Given the description of an element on the screen output the (x, y) to click on. 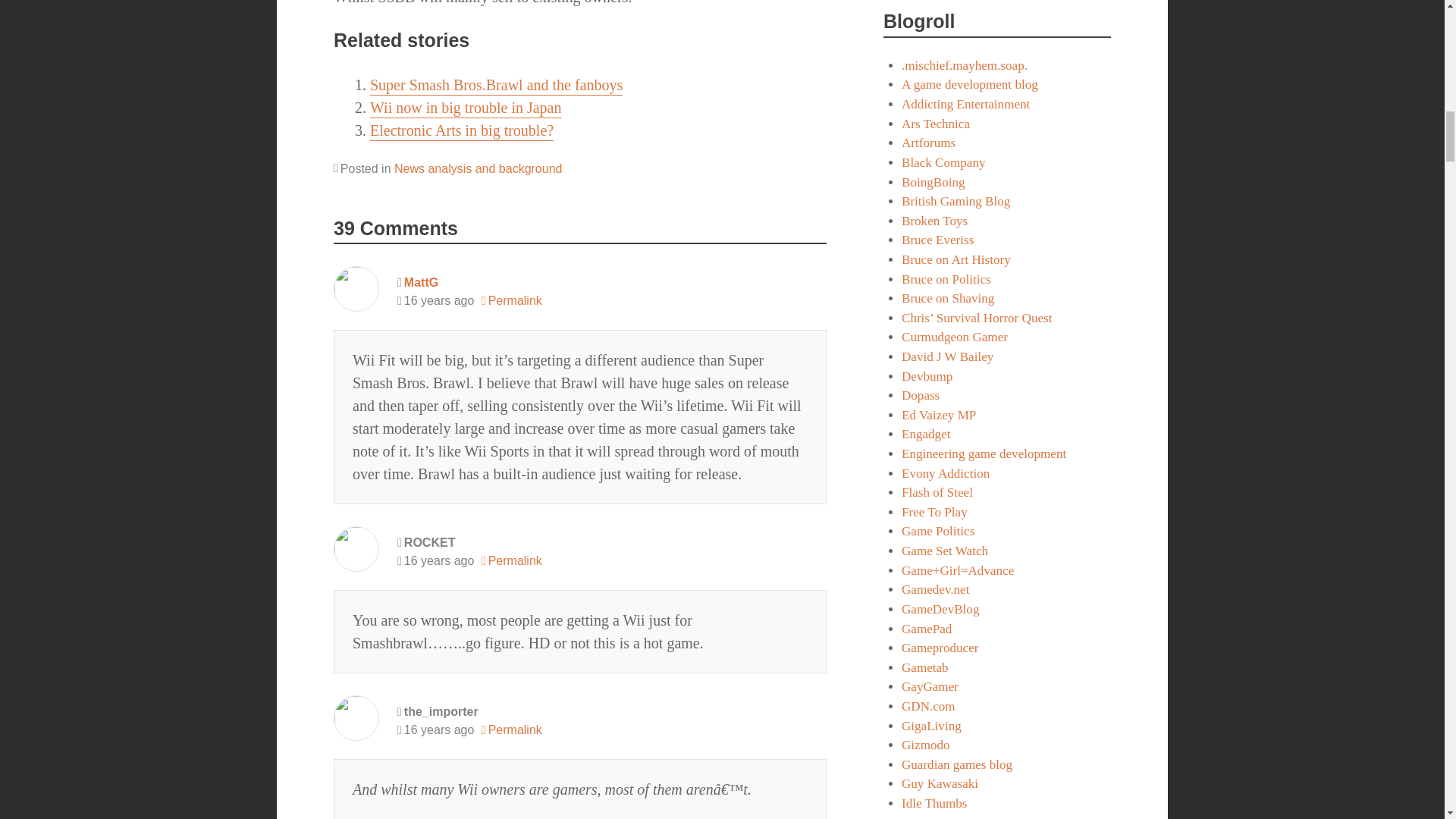
Super Smash Bros.Brawl and the fanboys (496, 85)
Electronic Arts in big trouble? (461, 130)
MattG (421, 282)
Electronic Arts in big trouble? (461, 130)
Super Smash Bros.Brawl and the fanboys (496, 85)
Permalink (511, 561)
Wii now in big trouble in Japan (465, 107)
Saturday, February 16, 2008, 12:27 pm (435, 300)
Saturday, February 16, 2008, 3:11 pm (435, 561)
News analysis and background (478, 168)
Permalink (511, 300)
Saturday, February 16, 2008, 6:44 pm (435, 730)
Permalink (511, 730)
Wii now in big trouble in Japan (465, 107)
